Given the description of an element on the screen output the (x, y) to click on. 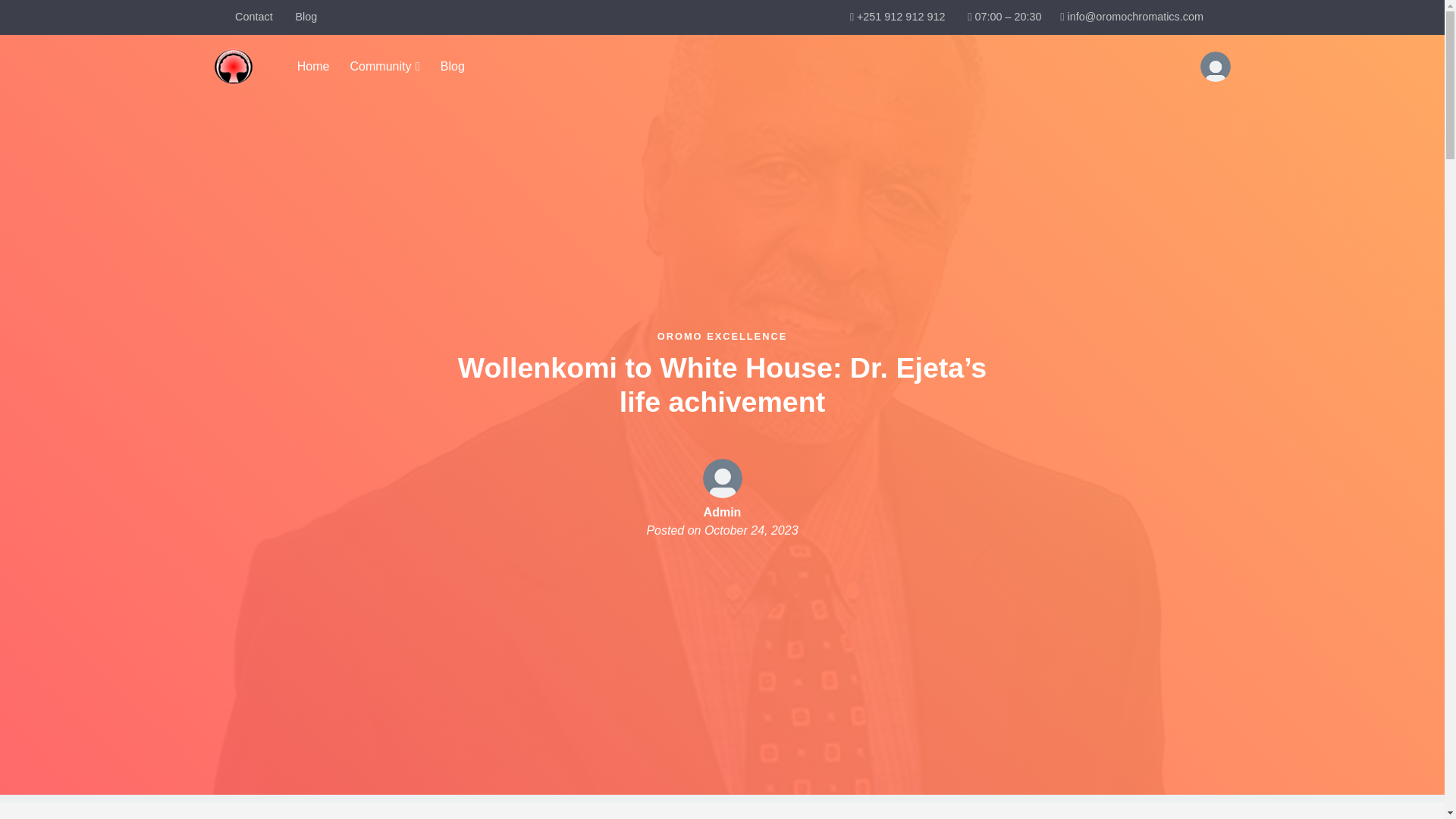
Admin (722, 512)
October 24, 2023 (750, 530)
Blog (306, 16)
Contact (253, 16)
OROMO EXCELLENCE (722, 336)
Community (384, 66)
